Given the description of an element on the screen output the (x, y) to click on. 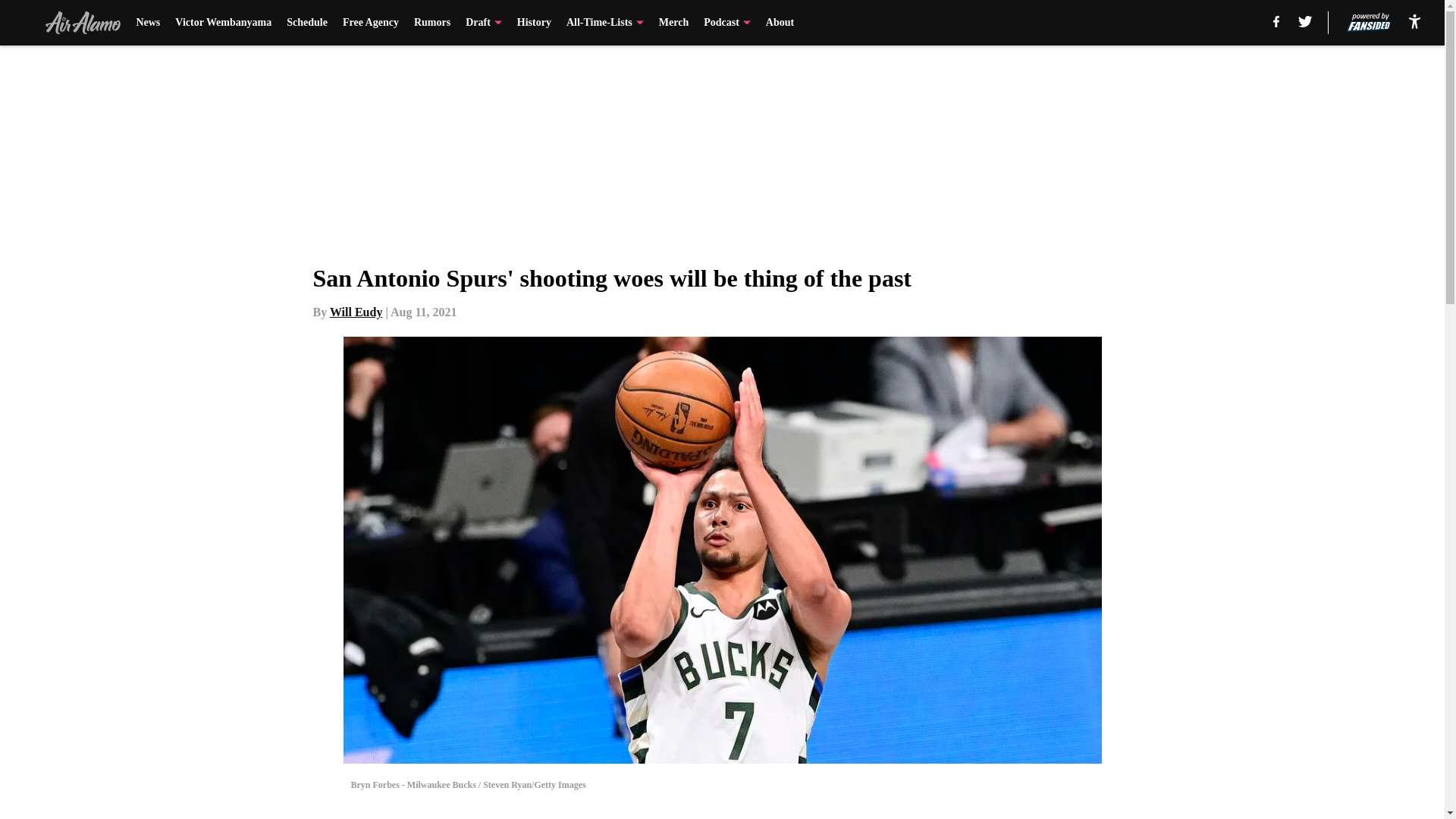
Free Agency (370, 22)
Victor Wembanyama (222, 22)
History (533, 22)
Rumors (431, 22)
Merch (673, 22)
Will Eudy (356, 311)
Draft (483, 22)
About (779, 22)
News (147, 22)
